Given the description of an element on the screen output the (x, y) to click on. 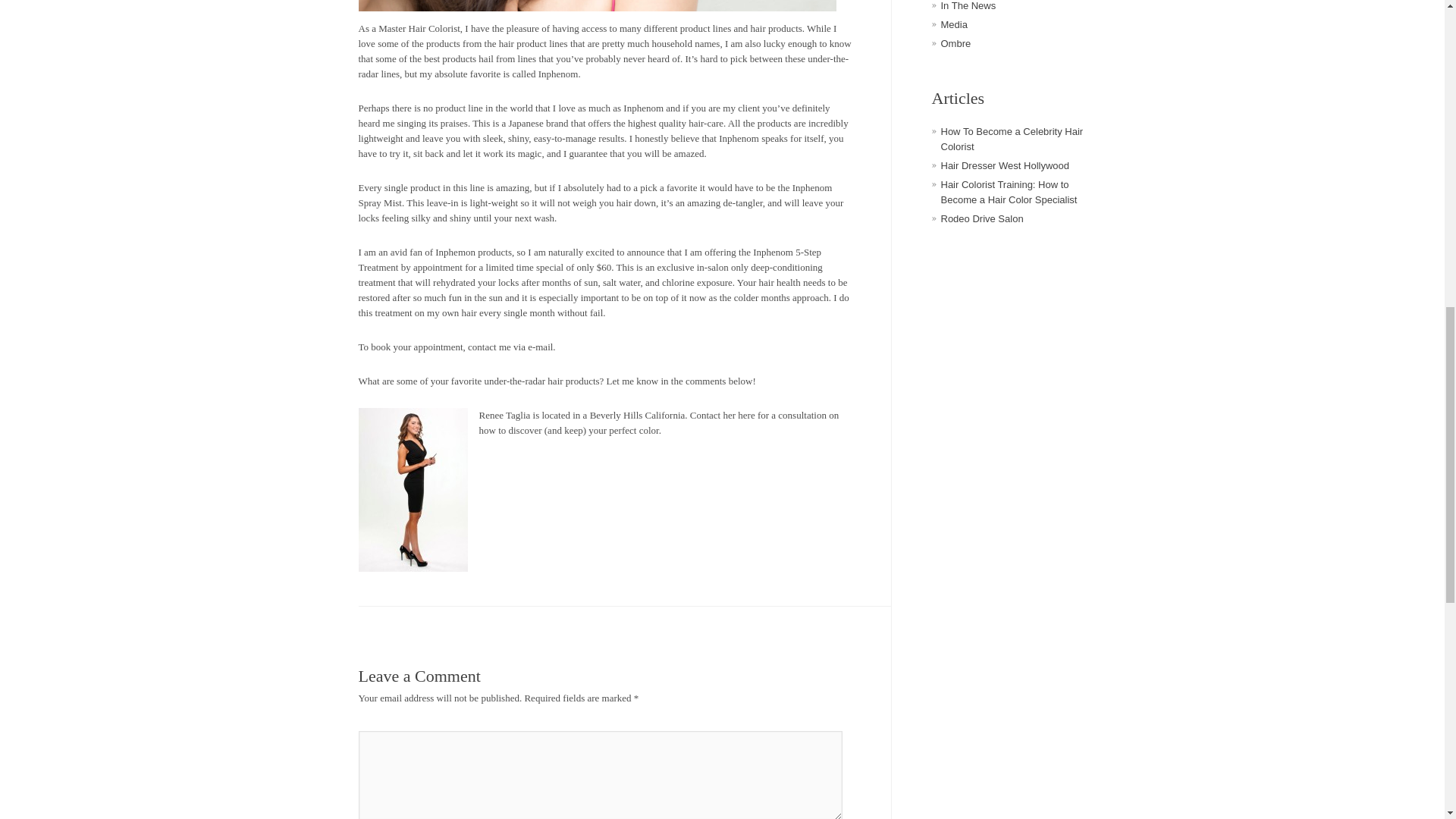
In The News (967, 5)
Rodeo Drive Salon (981, 218)
How To Become a Celebrity Hair Colorist (1011, 139)
Hair Dresser West Hollywood (1004, 165)
Ombre (955, 43)
Media (953, 24)
